Given the description of an element on the screen output the (x, y) to click on. 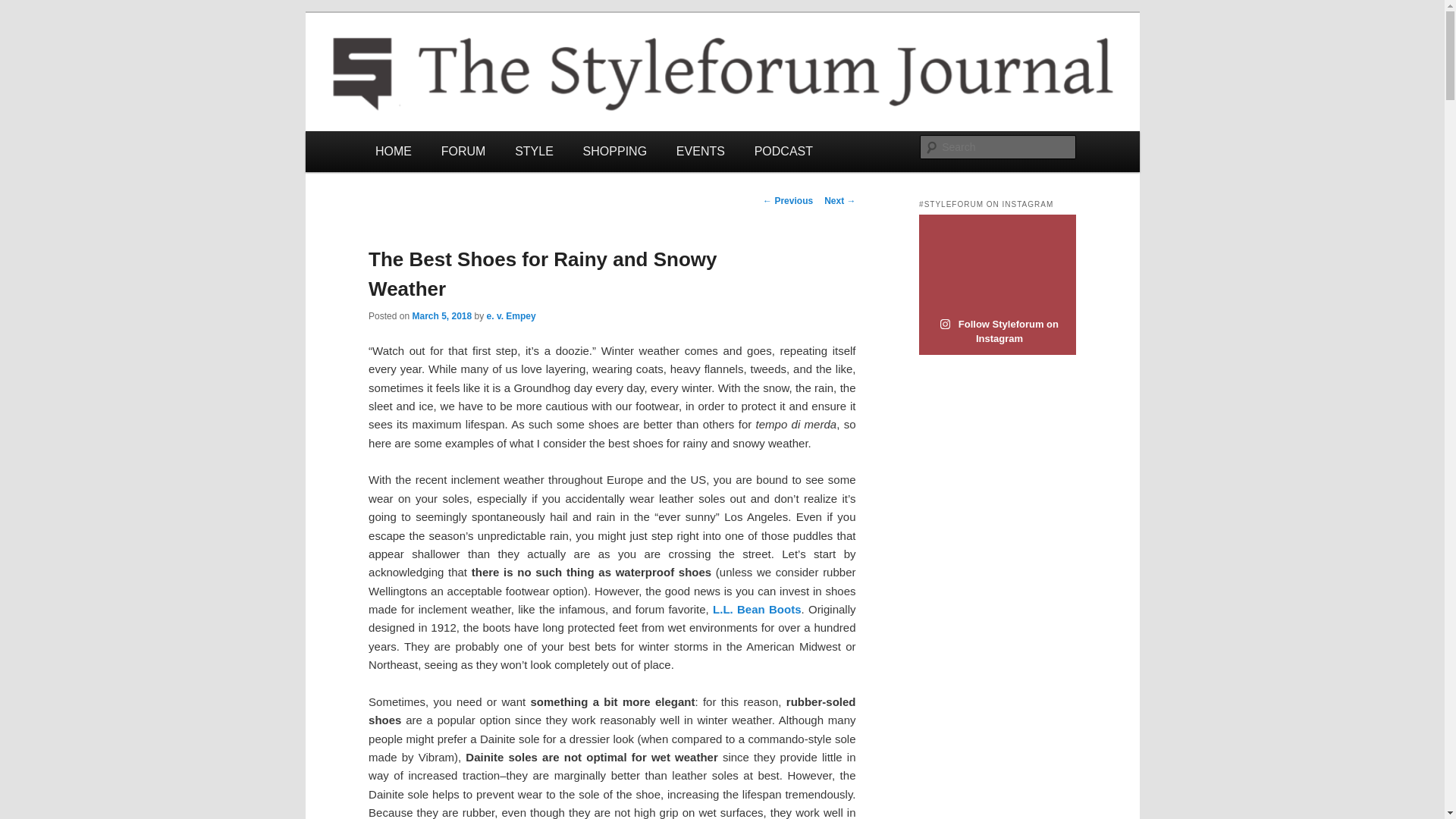
March 5, 2018 (441, 316)
Search (24, 8)
L.L. Bean Boots (756, 608)
The Styleforum Journal (495, 67)
HOME (393, 151)
SHOPPING (614, 151)
FORUM (462, 151)
PODCAST (783, 151)
View all posts by e. v. Empey (510, 316)
STYLE (533, 151)
4:16 pm (441, 316)
EVENTS (700, 151)
e. v. Empey (510, 316)
